Given the description of an element on the screen output the (x, y) to click on. 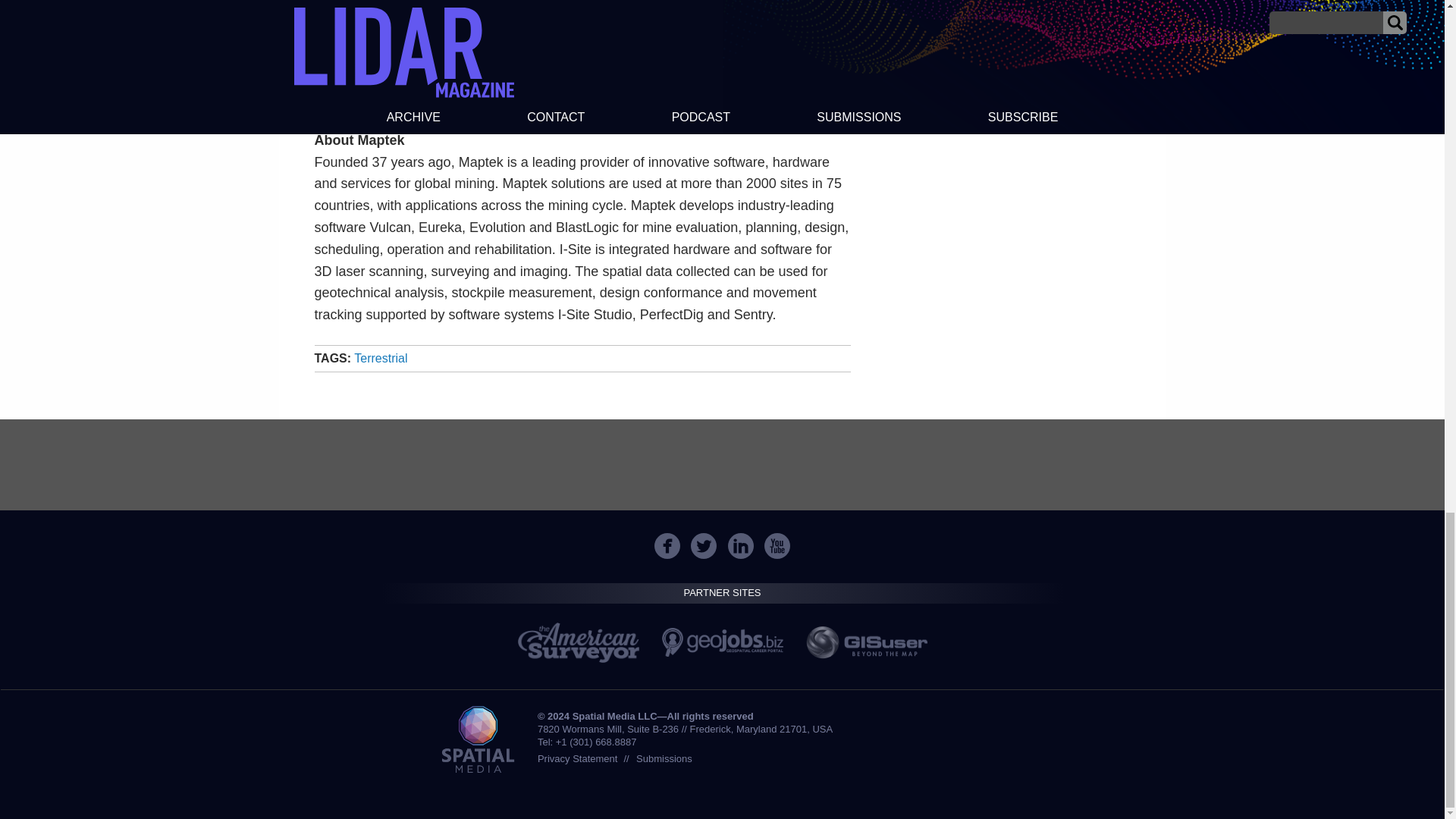
icon-sm-youtube (776, 545)
Submissions (664, 758)
icon-sm-twitter (703, 545)
Privacy Statement (577, 758)
icon-sm-fb (667, 545)
3rd party ad content (721, 464)
icon-sm-youtube (777, 545)
icon-sm-fb (666, 545)
icon-sm-linkedin (741, 545)
icon-sm-linkedin (740, 545)
icon-sm-twitter (703, 545)
Terrestrial (380, 358)
